Given the description of an element on the screen output the (x, y) to click on. 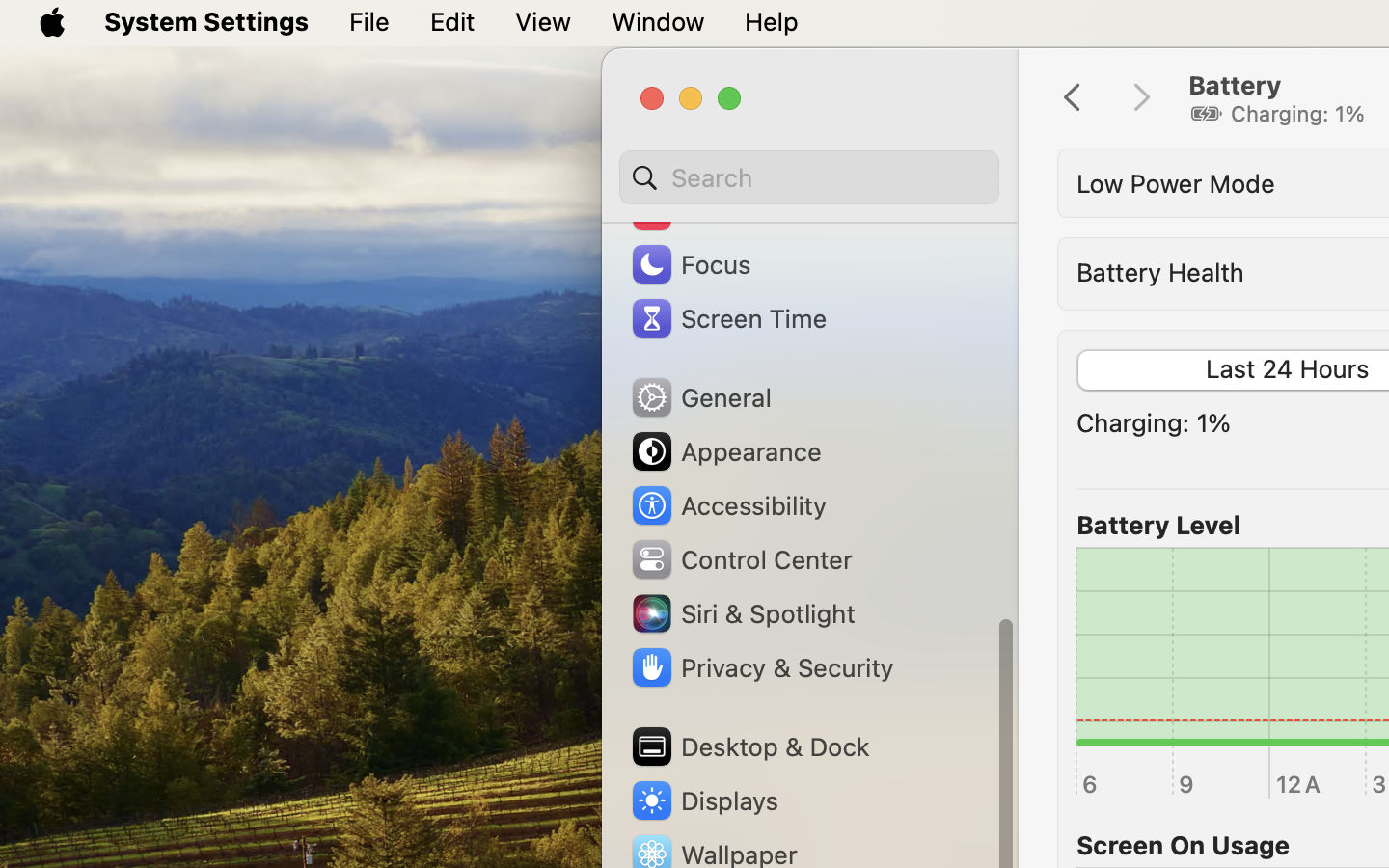
Focus Element type: AXStaticText (689, 264)
Low Power Mode Element type: AXStaticText (1175, 182)
Desktop & Dock Element type: AXStaticText (749, 746)
Siri & Spotlight Element type: AXStaticText (741, 613)
￼ Charging: 1% Element type: AXStaticText (1276, 113)
